Given the description of an element on the screen output the (x, y) to click on. 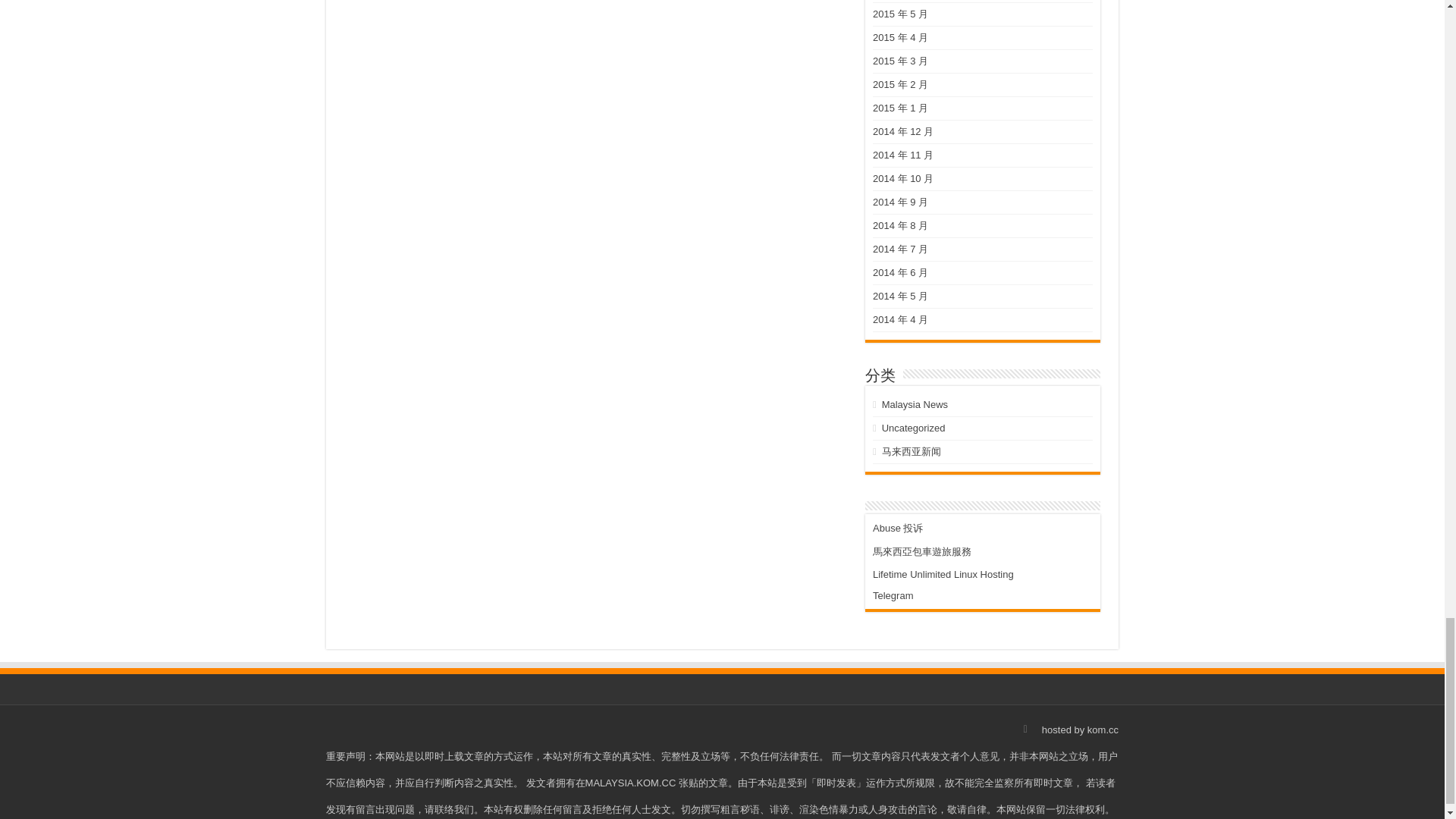
Facebook (1025, 729)
